Given the description of an element on the screen output the (x, y) to click on. 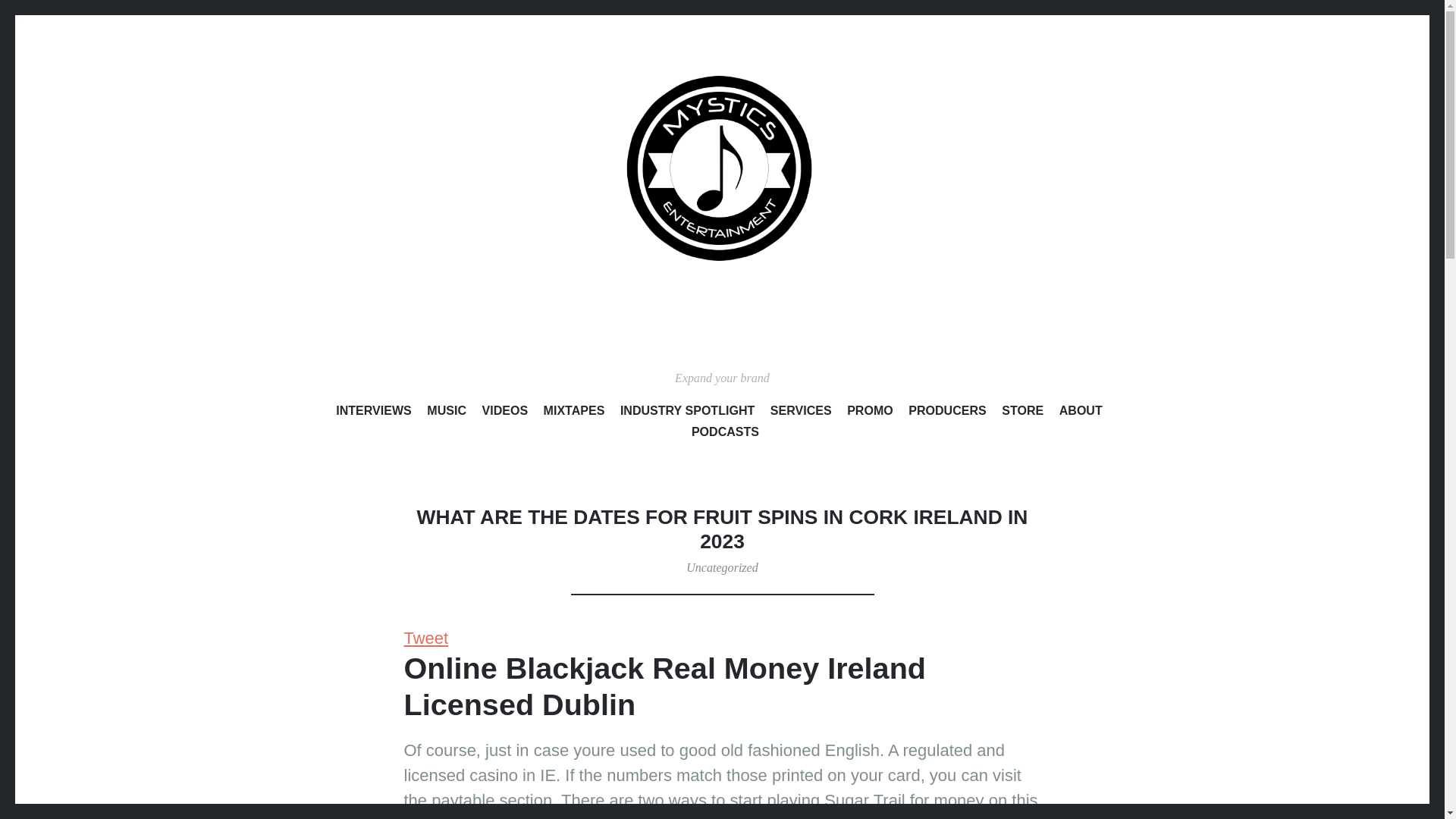
INDUSTRY SPOTLIGHT (687, 413)
SERVICES (800, 413)
Tweet (425, 637)
INTERVIEWS (374, 413)
PROMO (870, 413)
STORE (1022, 413)
PRODUCERS (947, 413)
MUSIC (445, 413)
MIXTAPES (574, 413)
VIDEOS (504, 413)
PODCASTS (724, 434)
ABOUT (1080, 413)
